Given the description of an element on the screen output the (x, y) to click on. 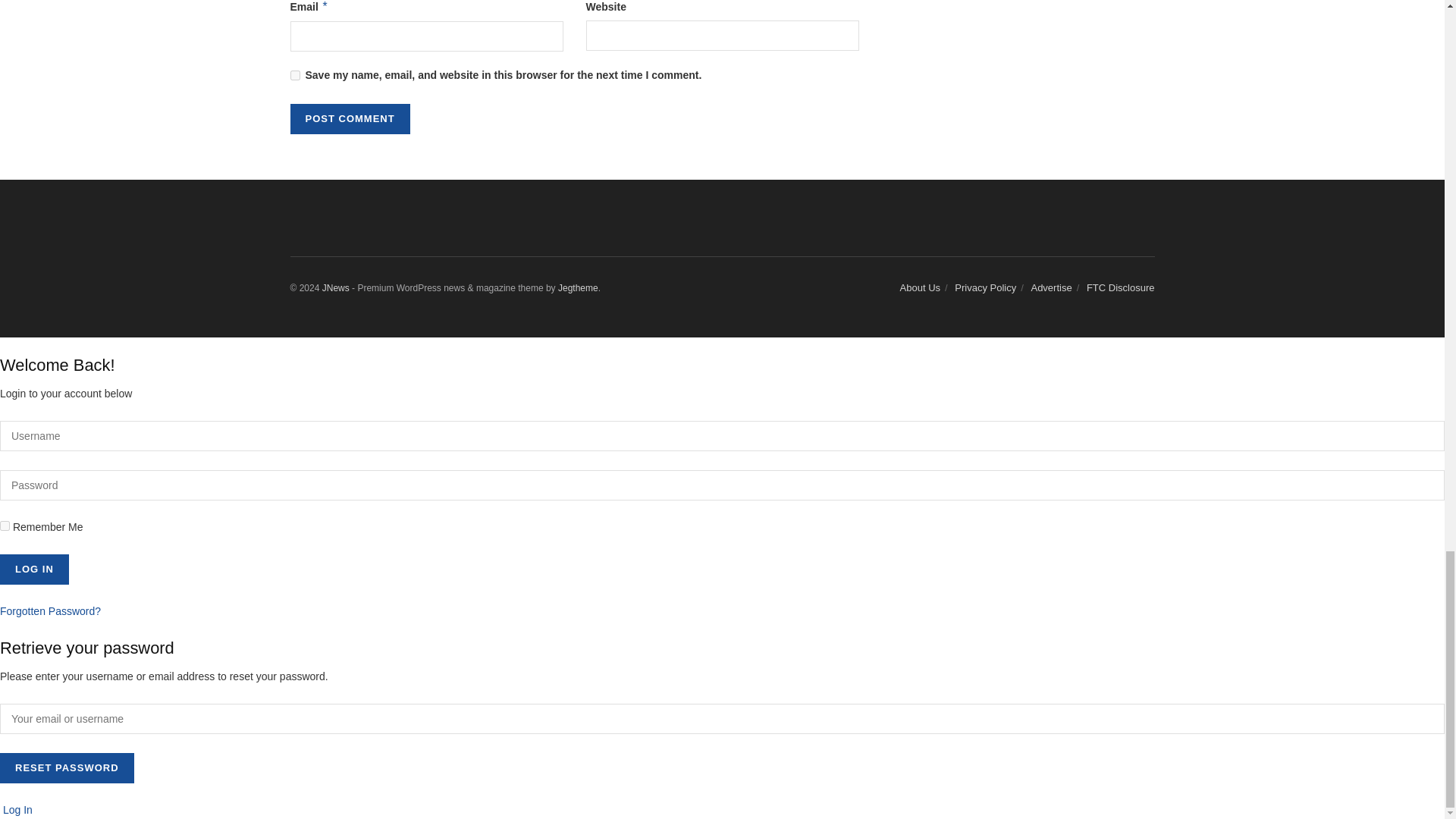
Jegtheme (577, 287)
Reset Password (66, 767)
Post Comment (349, 119)
Log In (34, 569)
yes (294, 75)
true (5, 525)
